Given the description of an element on the screen output the (x, y) to click on. 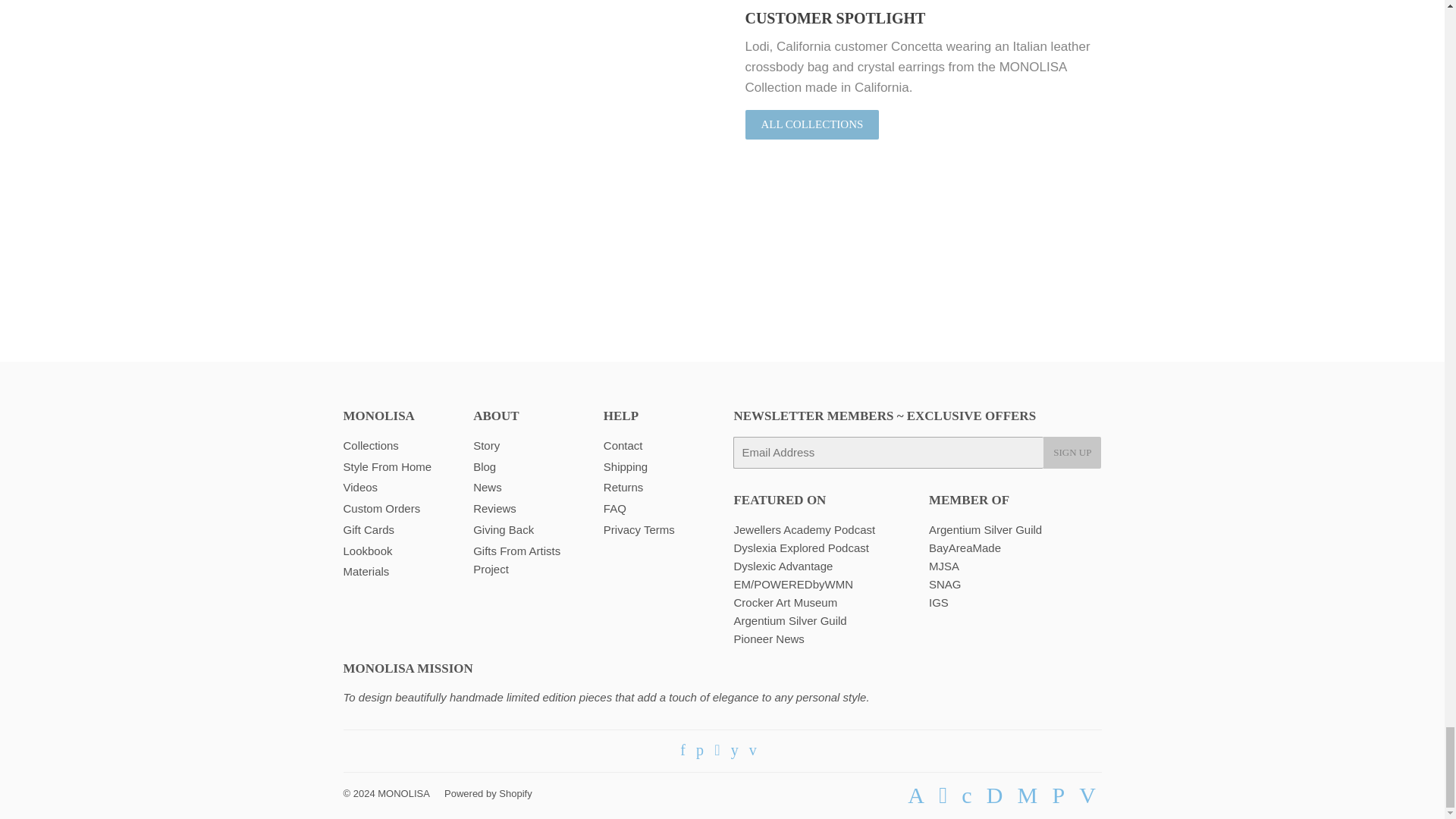
Dyslexia Explored Podcast (800, 547)
